Given the description of an element on the screen output the (x, y) to click on. 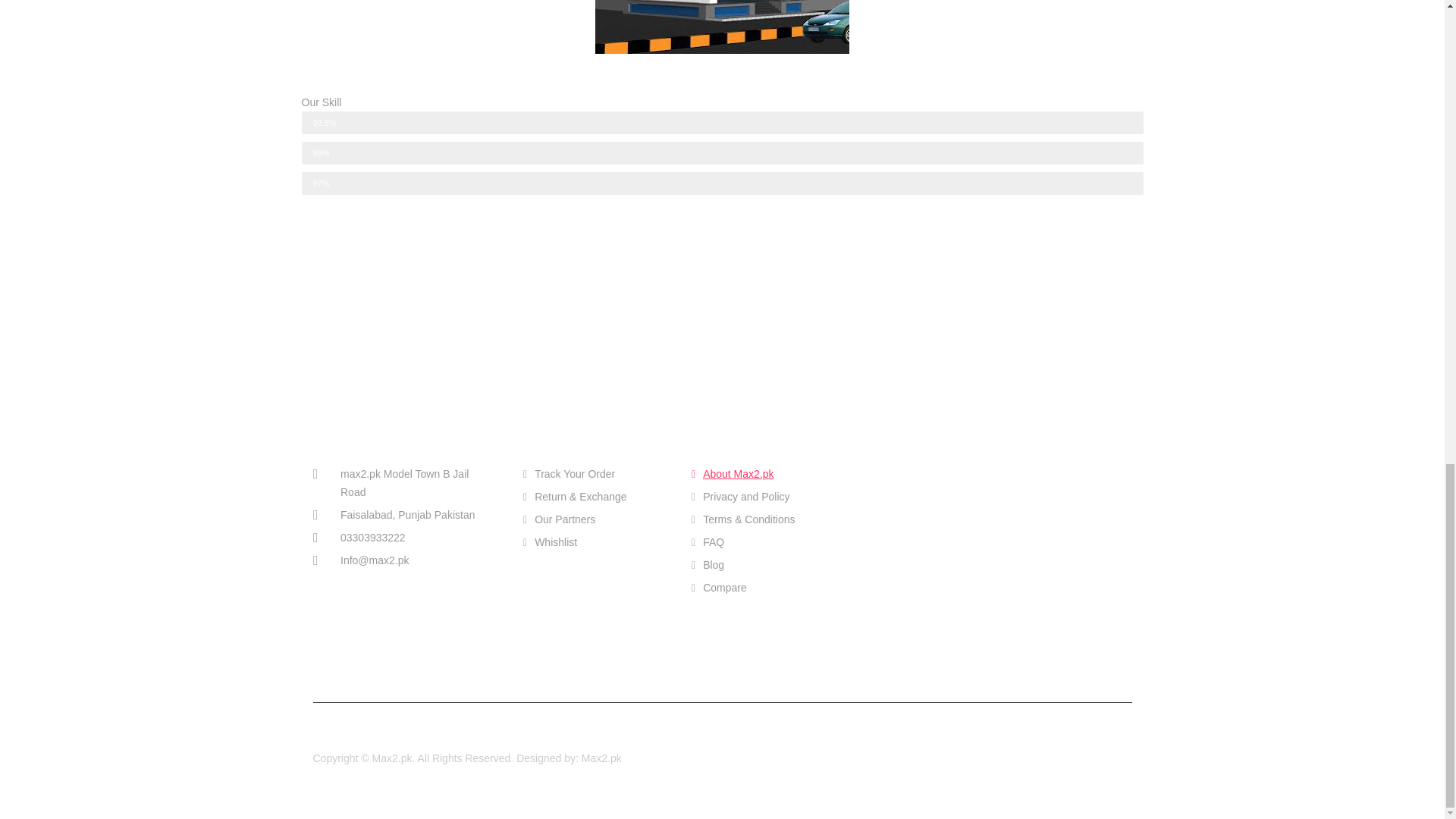
Track Your Order (595, 474)
Faisalabad, Punjab Pakistan (404, 515)
Compare (764, 587)
Max2.pk (600, 758)
03303933222 (404, 537)
Whishlist (595, 542)
max2.pk Model Town B Jail Road (404, 483)
Our Partners (595, 519)
About Max2.pk (764, 474)
Blog (764, 565)
FAQ (764, 542)
Privacy and Policy (764, 496)
